Given the description of an element on the screen output the (x, y) to click on. 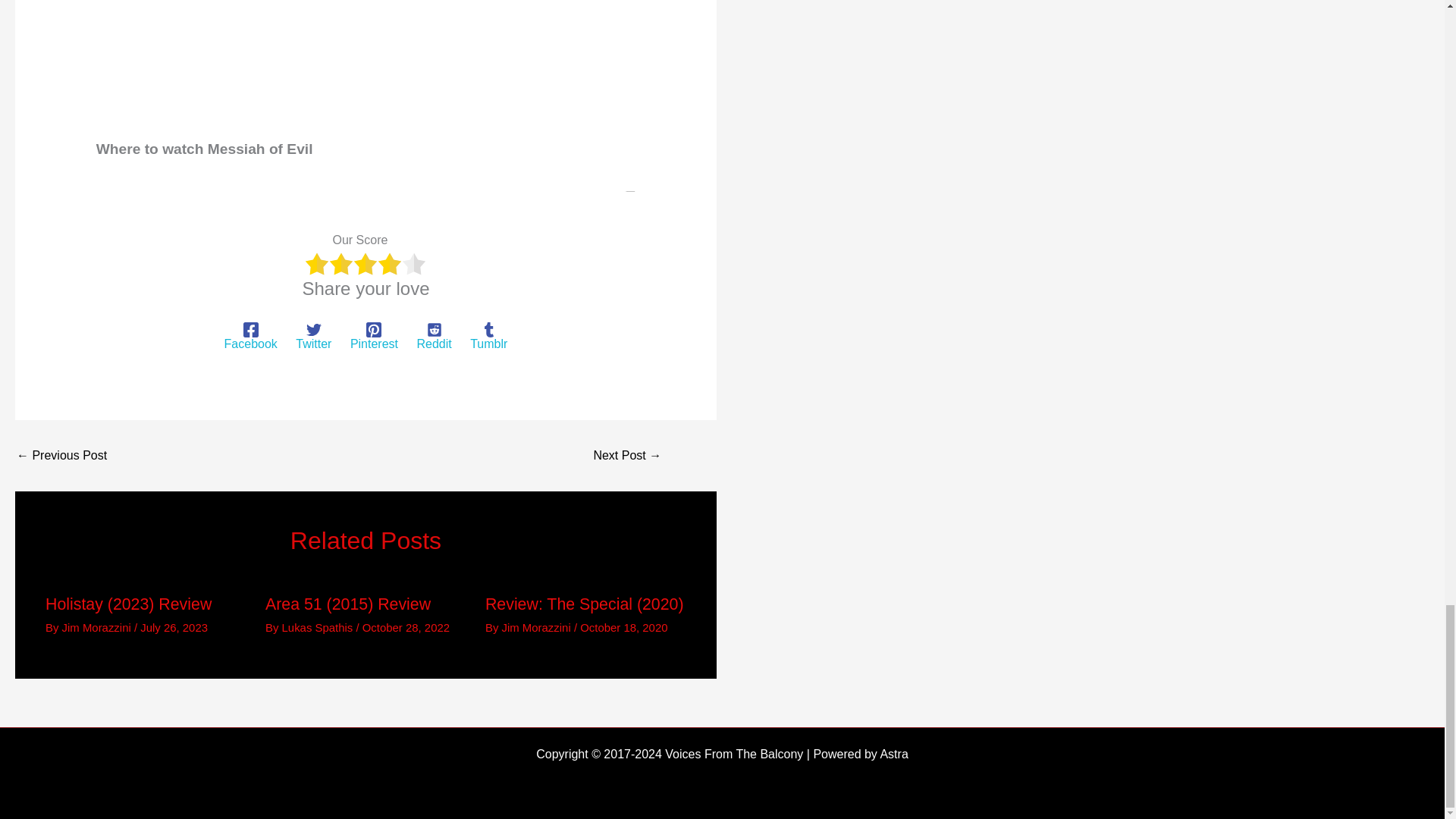
Facebook (251, 336)
Jim Morazzini (537, 626)
Powered by JustWatch (145, 210)
Pinterest (373, 336)
View all posts by Jim Morazzini (97, 626)
View all posts by Lukas Spathis (319, 626)
Lukas Spathis (319, 626)
Jim Morazzini (97, 626)
Twitter (313, 336)
Reddit (433, 336)
Tumblr (488, 336)
View all posts by Jim Morazzini (537, 626)
